Given the description of an element on the screen output the (x, y) to click on. 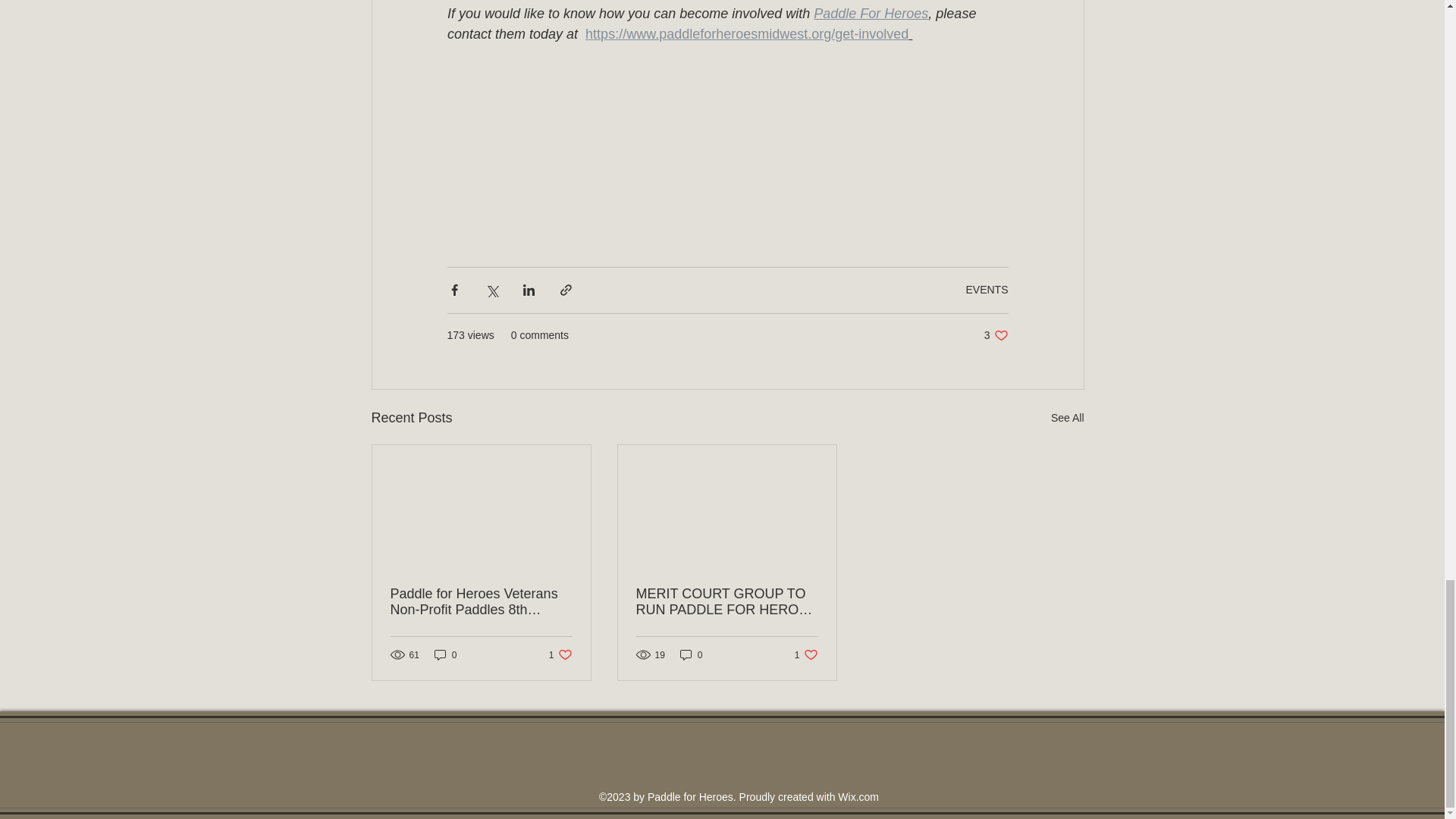
0 (445, 654)
See All (996, 335)
EVENTS (560, 654)
Paddle For Heroes (1067, 418)
